Given the description of an element on the screen output the (x, y) to click on. 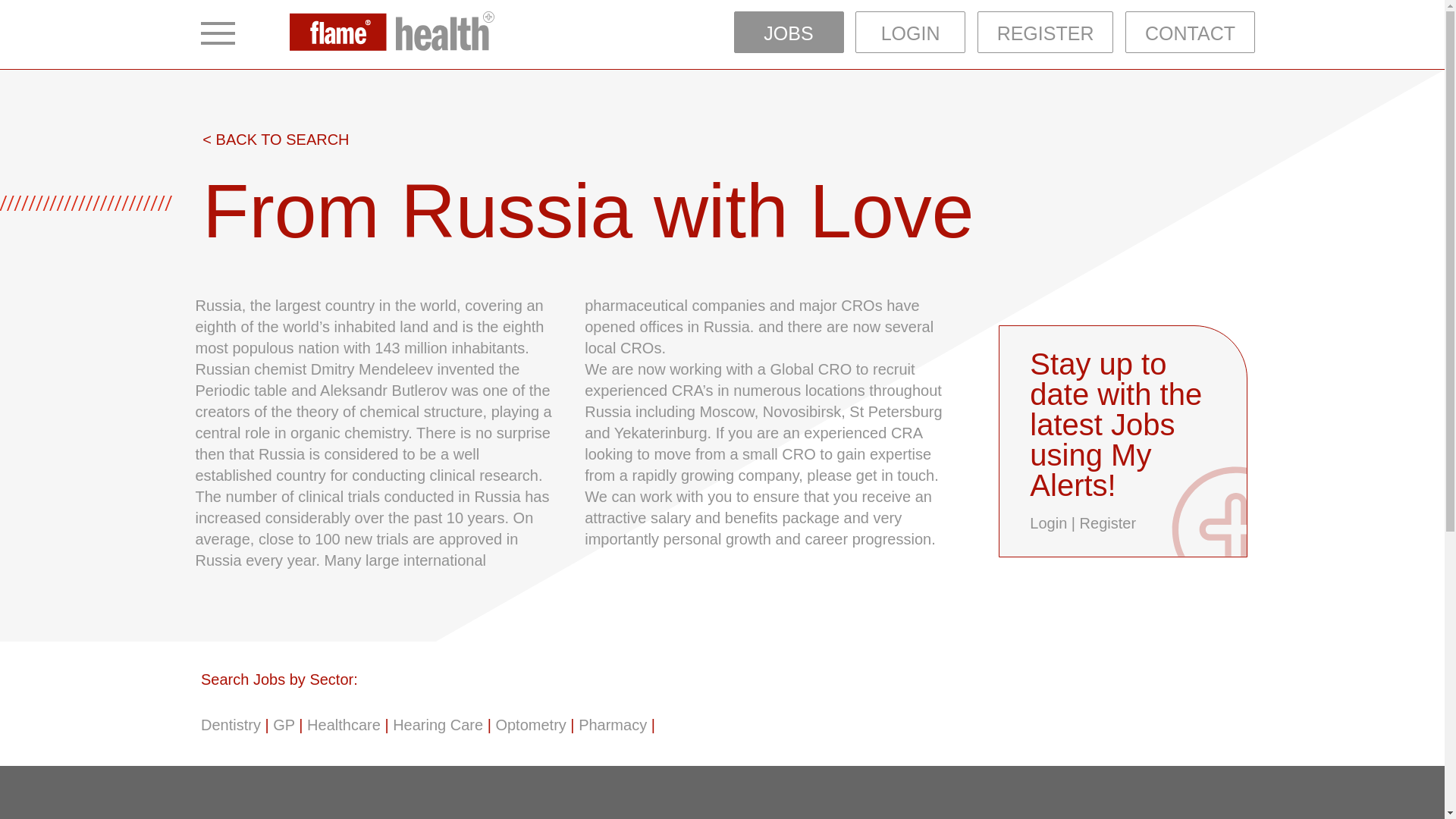
JOBS (788, 32)
Yekaterinburg (660, 433)
Flame Health (392, 33)
Moscow (726, 411)
Dentistry (230, 724)
Optometry (530, 724)
Novosibirsk (801, 411)
Healthcare (343, 724)
Pharmacy (612, 724)
LOGIN (910, 32)
